Given the description of an element on the screen output the (x, y) to click on. 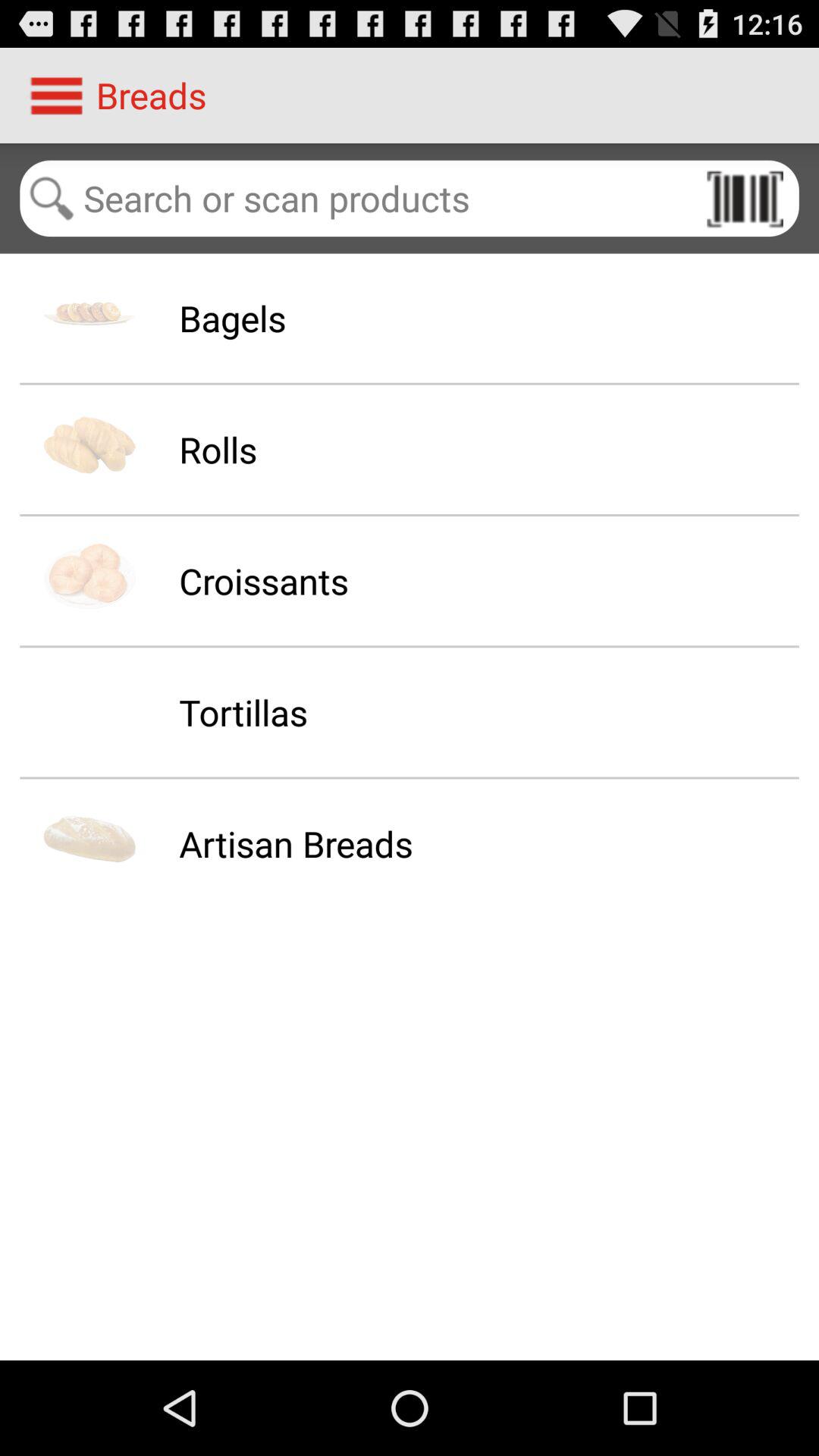
launch the rolls icon (218, 449)
